Given the description of an element on the screen output the (x, y) to click on. 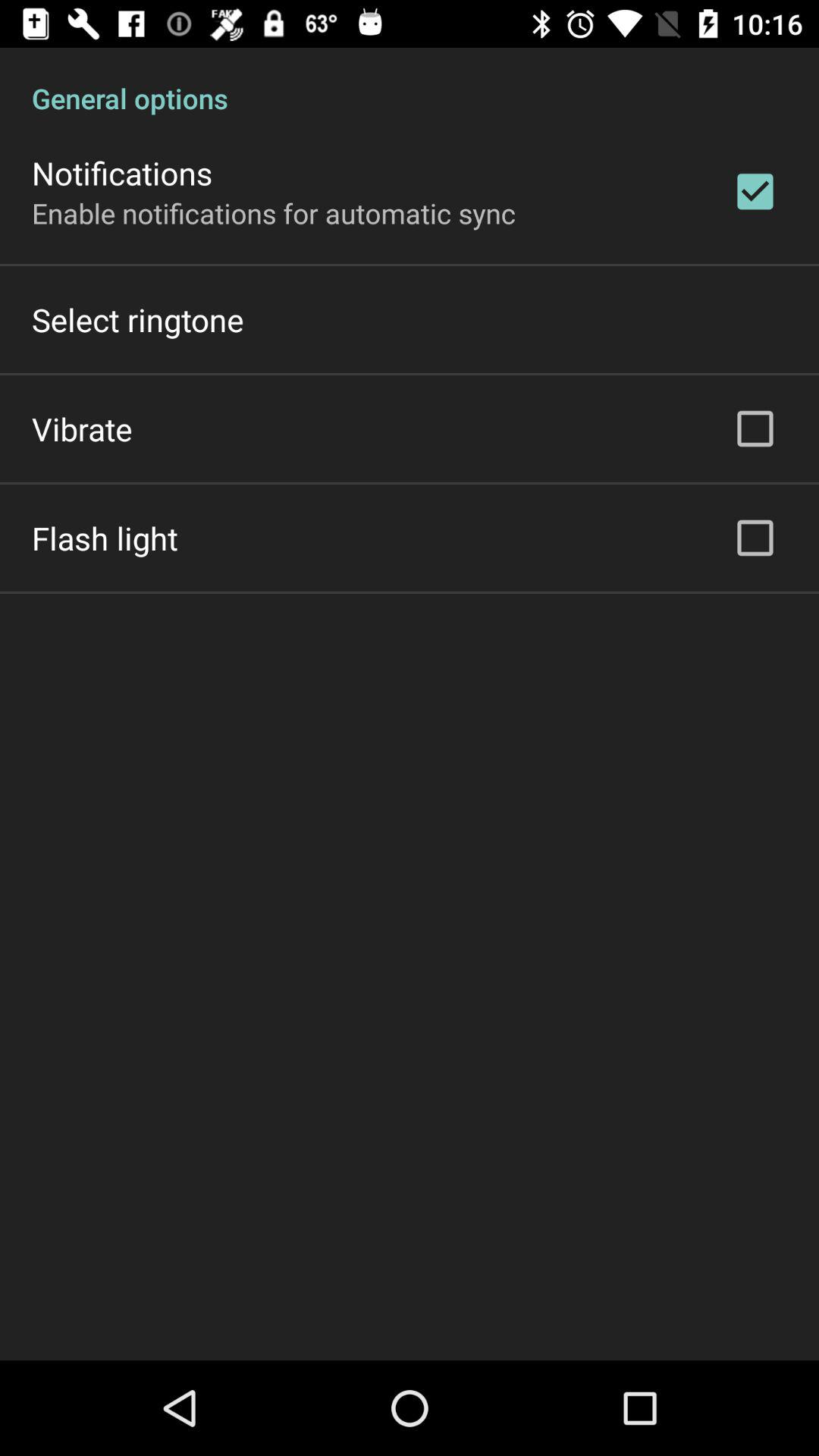
turn on the icon above the flash light icon (81, 428)
